Given the description of an element on the screen output the (x, y) to click on. 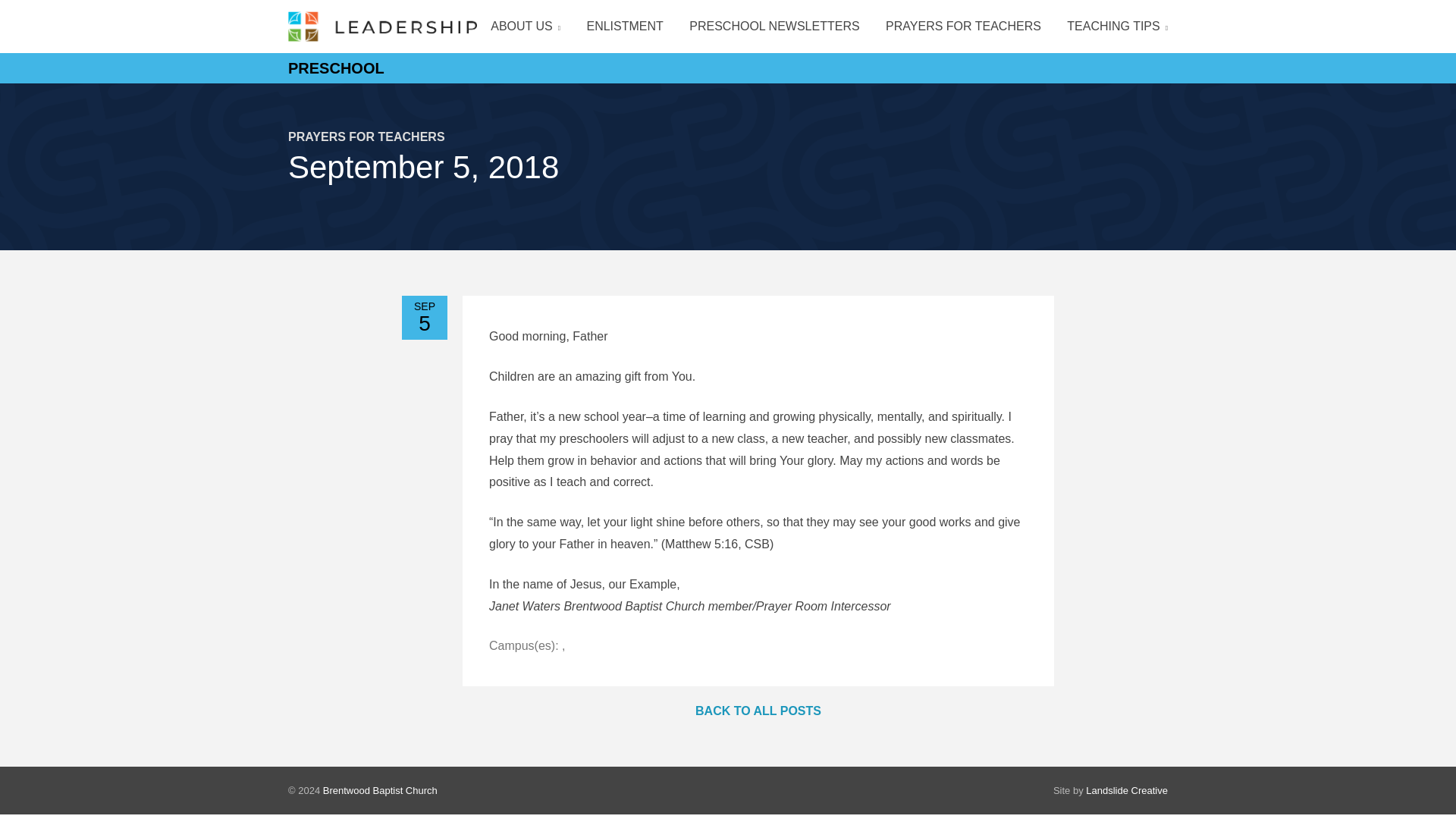
ABOUT US (525, 26)
Landslide Creative (1126, 790)
ENLISTMENT (624, 26)
TEACHING TIPS (1111, 26)
Brentwood Baptist Church (380, 790)
PRAYERS FOR TEACHERS (366, 136)
PRAYERS FOR TEACHERS (963, 26)
BACK TO ALL POSTS (758, 710)
PRESCHOOL NEWSLETTERS (774, 26)
